Given the description of an element on the screen output the (x, y) to click on. 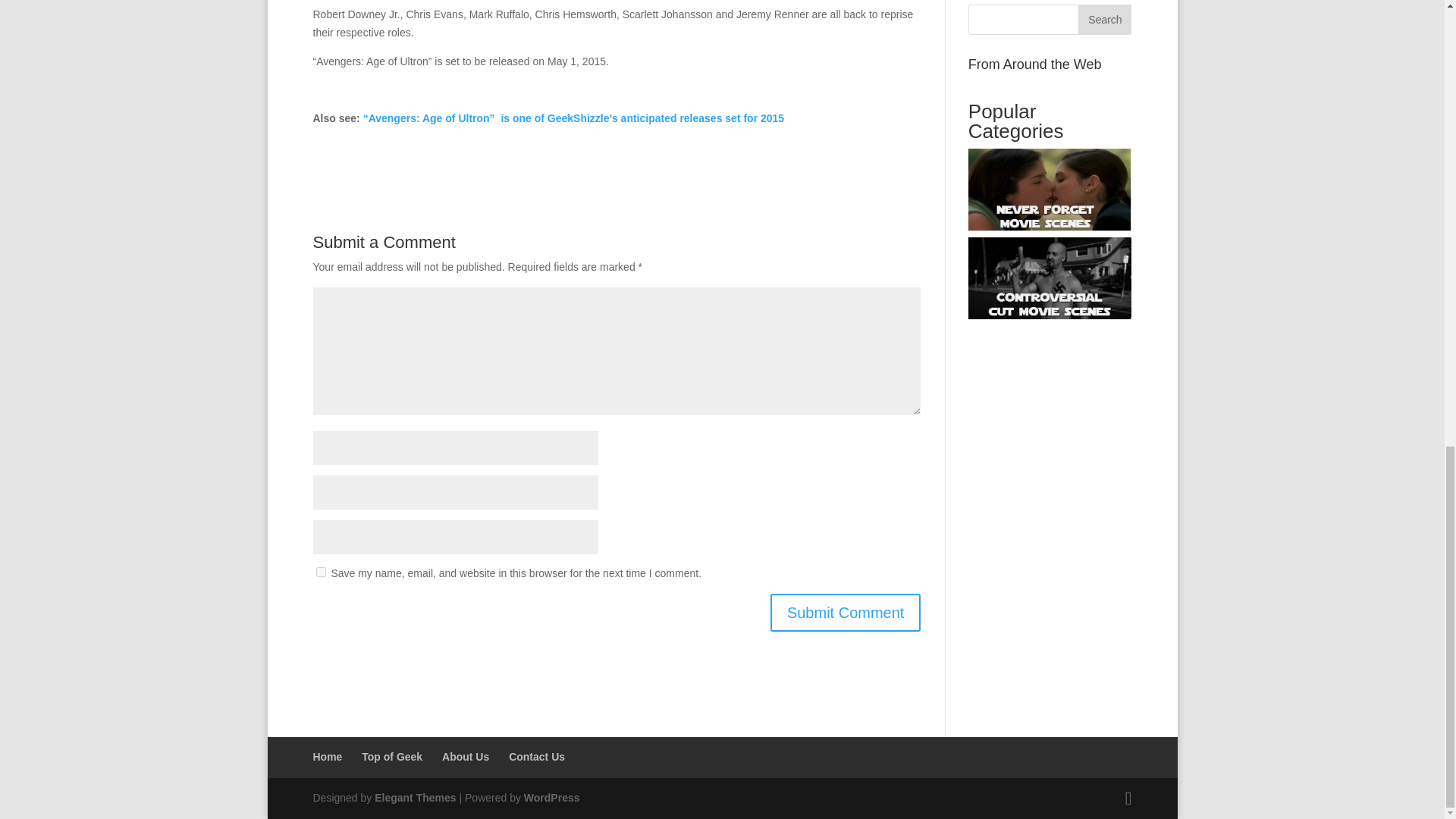
yes (319, 572)
Search (1104, 19)
Submit Comment (845, 612)
Premium WordPress Themes (414, 797)
